Given the description of an element on the screen output the (x, y) to click on. 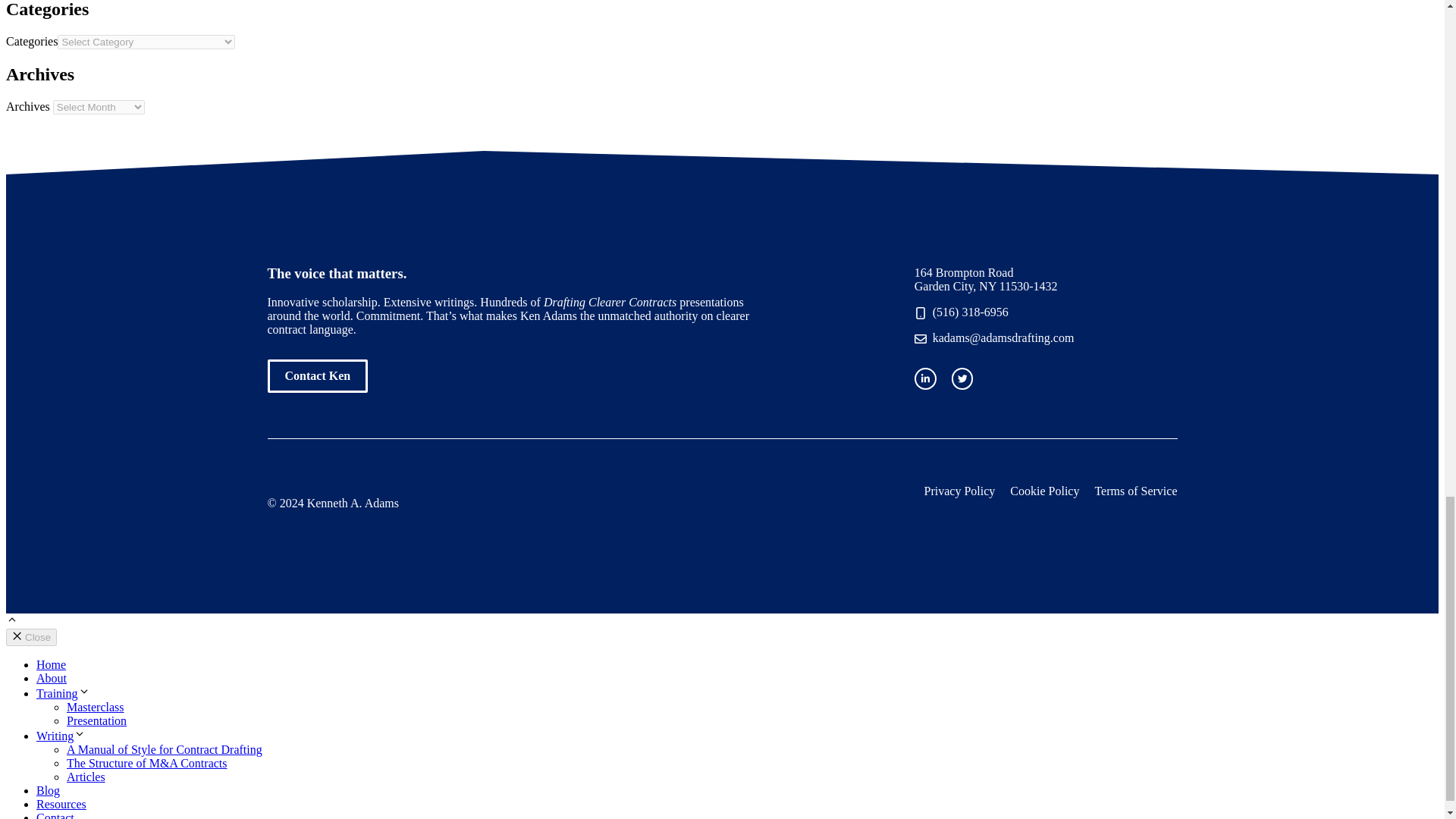
Close (30, 636)
Cookie Policy (1044, 490)
Contact Ken (317, 376)
Scroll back to top (11, 621)
Privacy Policy (959, 490)
Terms of Service (1135, 490)
